Given the description of an element on the screen output the (x, y) to click on. 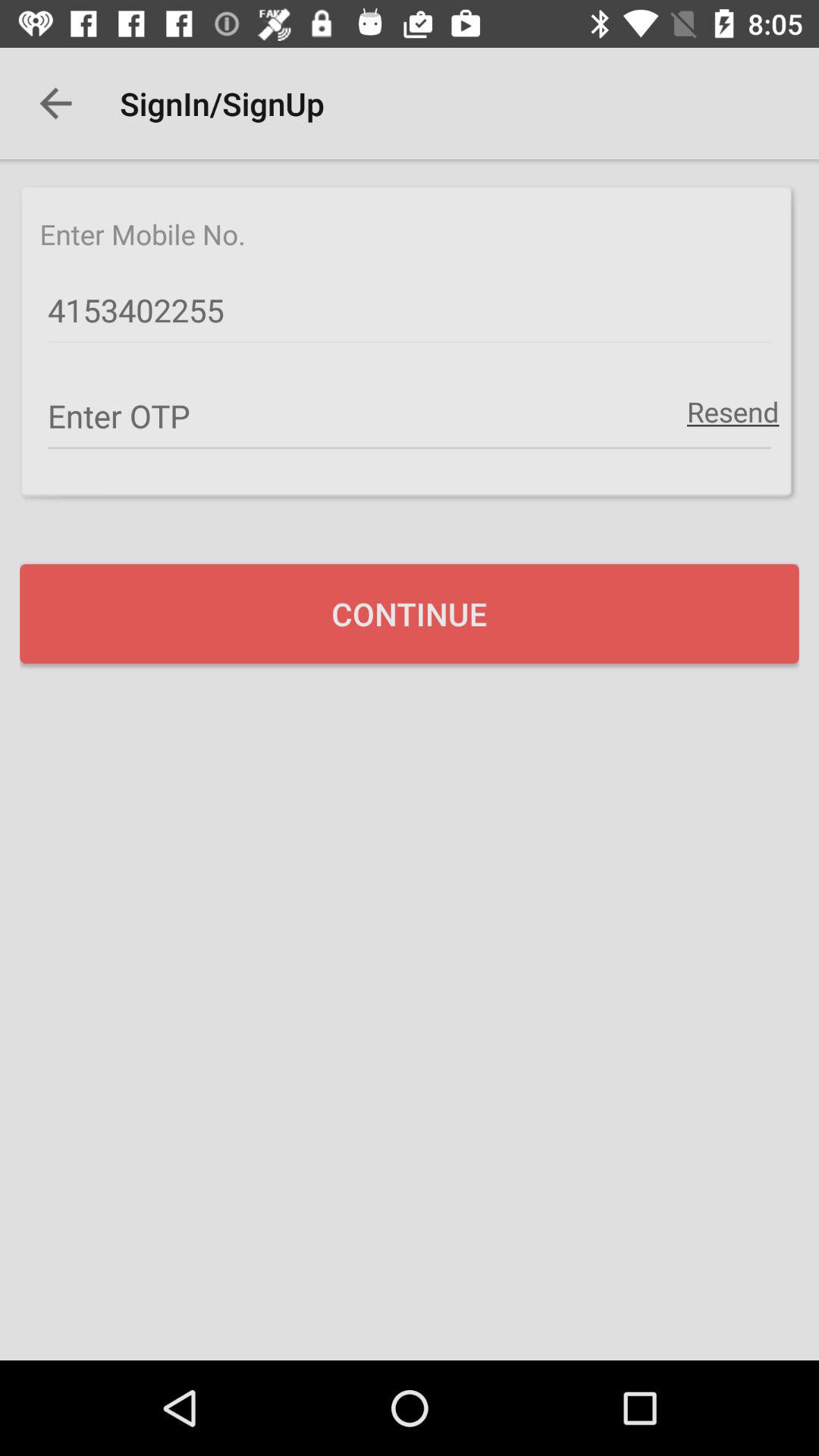
turn off item at the top right corner (733, 411)
